Given the description of an element on the screen output the (x, y) to click on. 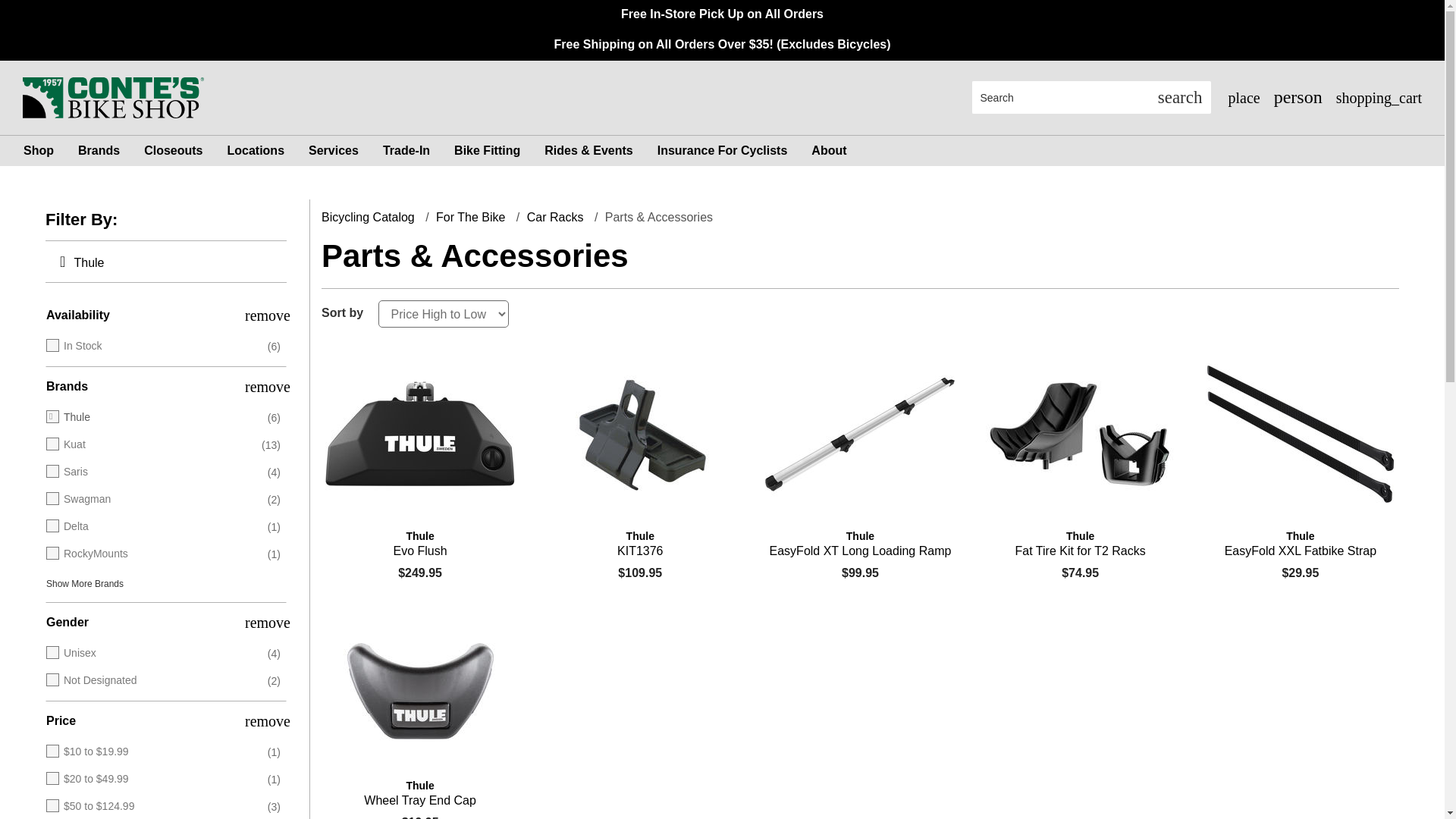
Search (1179, 97)
Thule Evo Flush (419, 433)
Search (1061, 97)
Shop (38, 150)
Stores (1242, 97)
Thule Evo Flush (419, 543)
Conte's Bike Shop Home Page (113, 96)
Account (1296, 97)
